Given the description of an element on the screen output the (x, y) to click on. 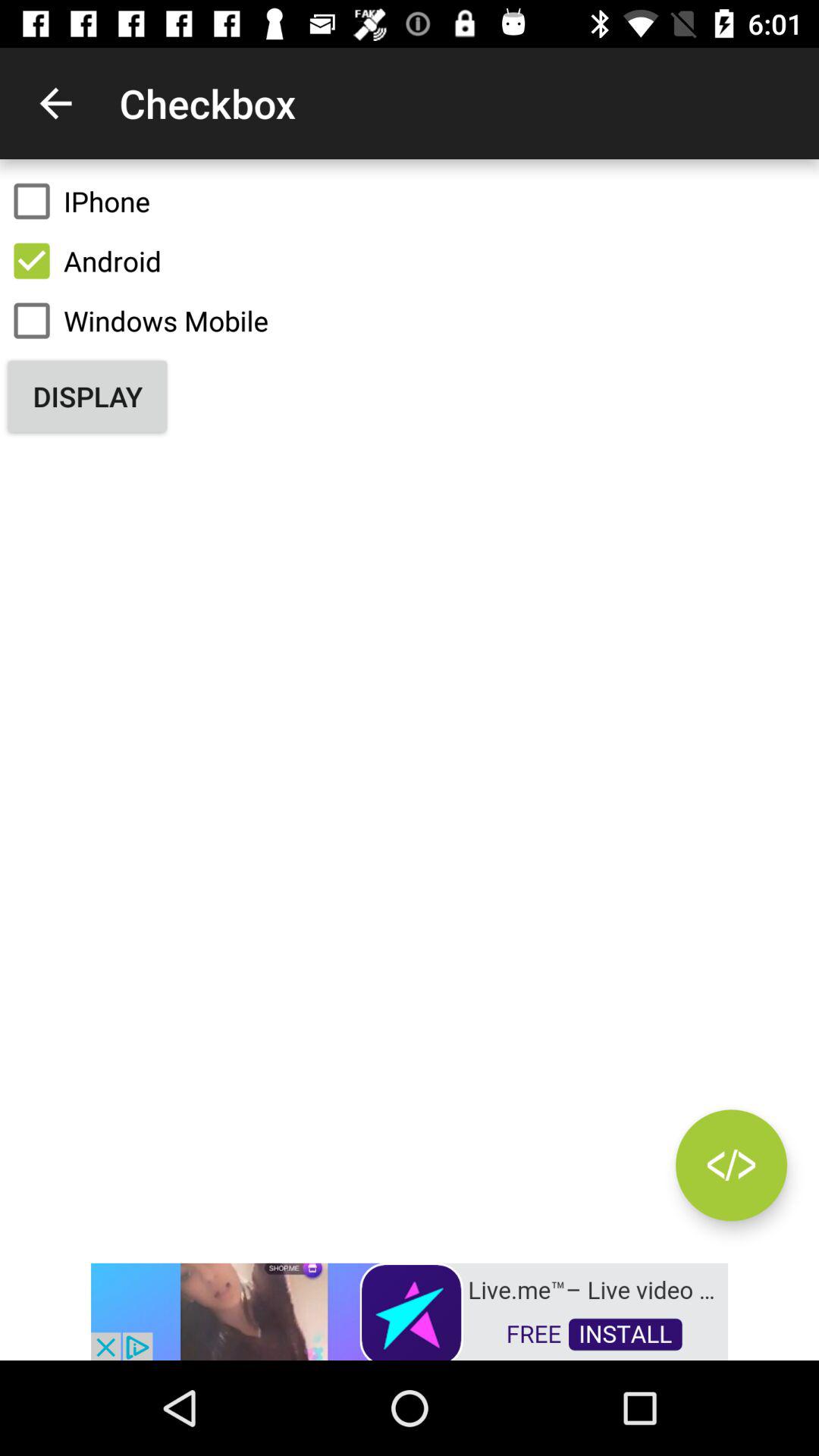
select this advertisement (409, 1310)
